Given the description of an element on the screen output the (x, y) to click on. 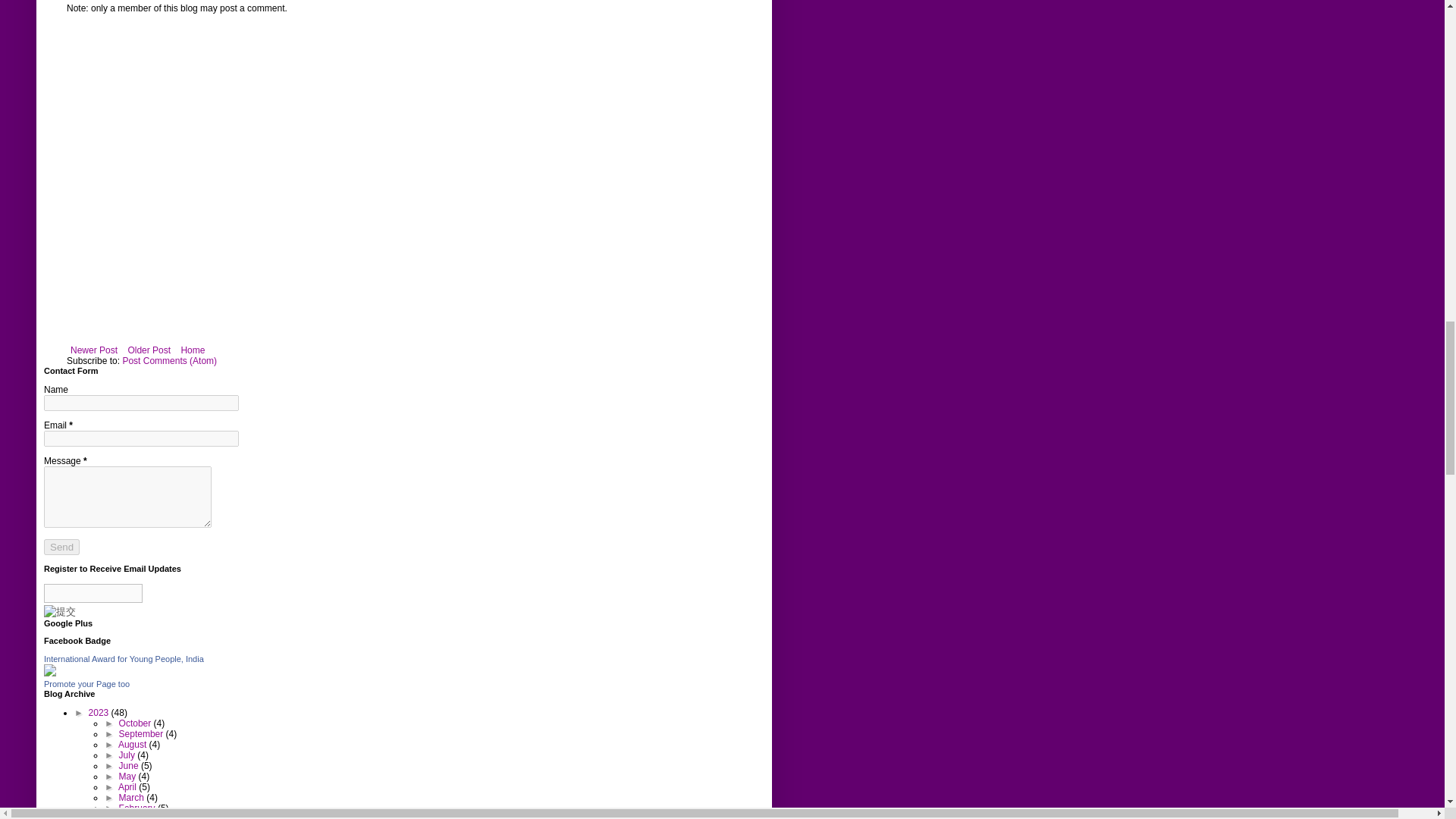
2023 (100, 712)
Make your own badge! (86, 683)
Newer Post (93, 350)
Promote your Page too (86, 683)
International Award for Young People, India (49, 673)
Older Post (148, 350)
International Award for Young People, India (123, 658)
Newer Post (93, 350)
Older Post (148, 350)
International Award for Young People, India (123, 658)
October (136, 723)
Send (61, 546)
Home (192, 350)
